Given the description of an element on the screen output the (x, y) to click on. 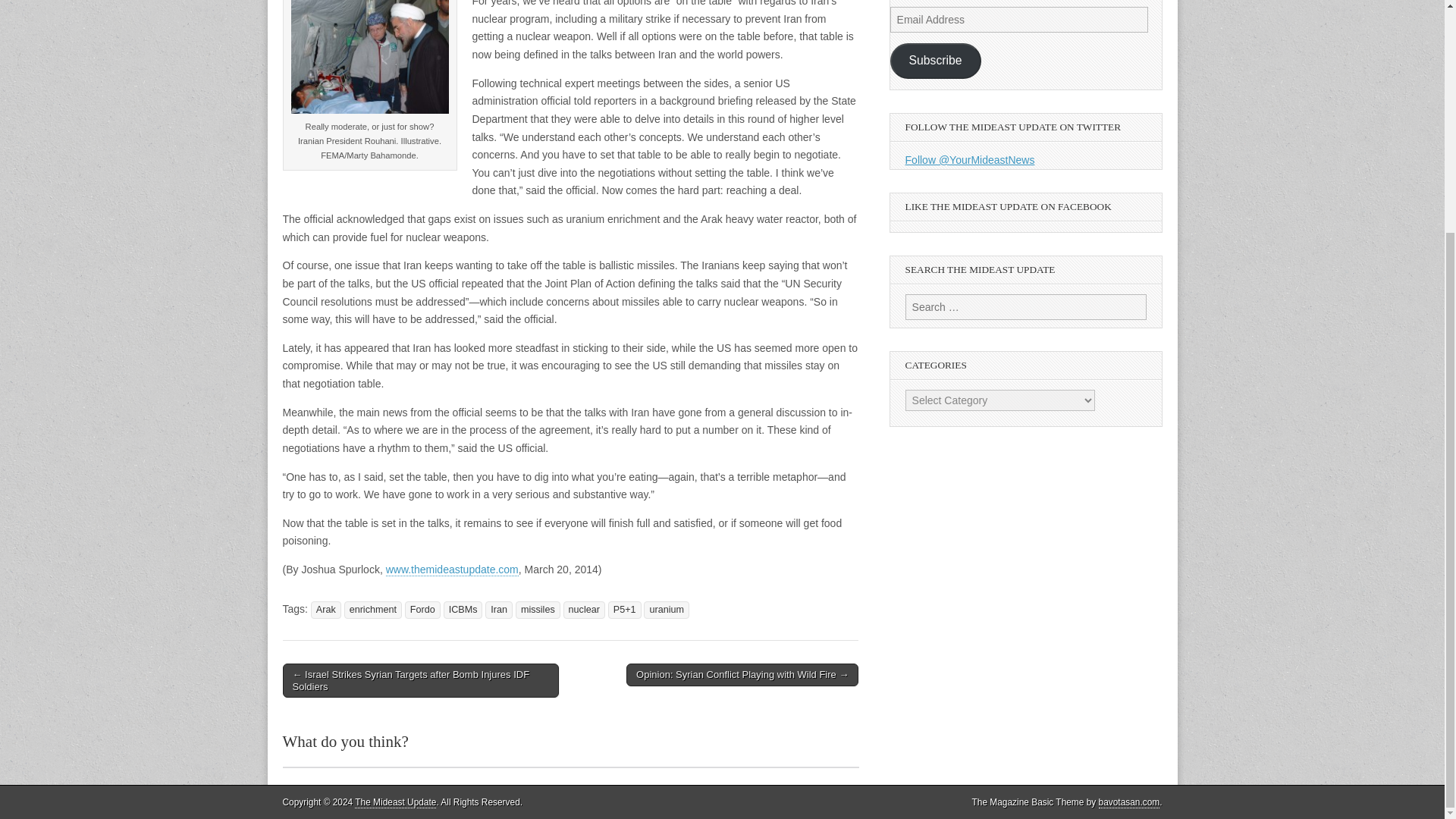
Fordo (422, 610)
www.themideastupdate.com (451, 569)
uranium (665, 610)
Subscribe (935, 60)
nuclear (584, 610)
The Mideast Update (395, 802)
missiles (537, 610)
enrichment (372, 610)
ICBMs (463, 610)
Arak (325, 610)
